Given the description of an element on the screen output the (x, y) to click on. 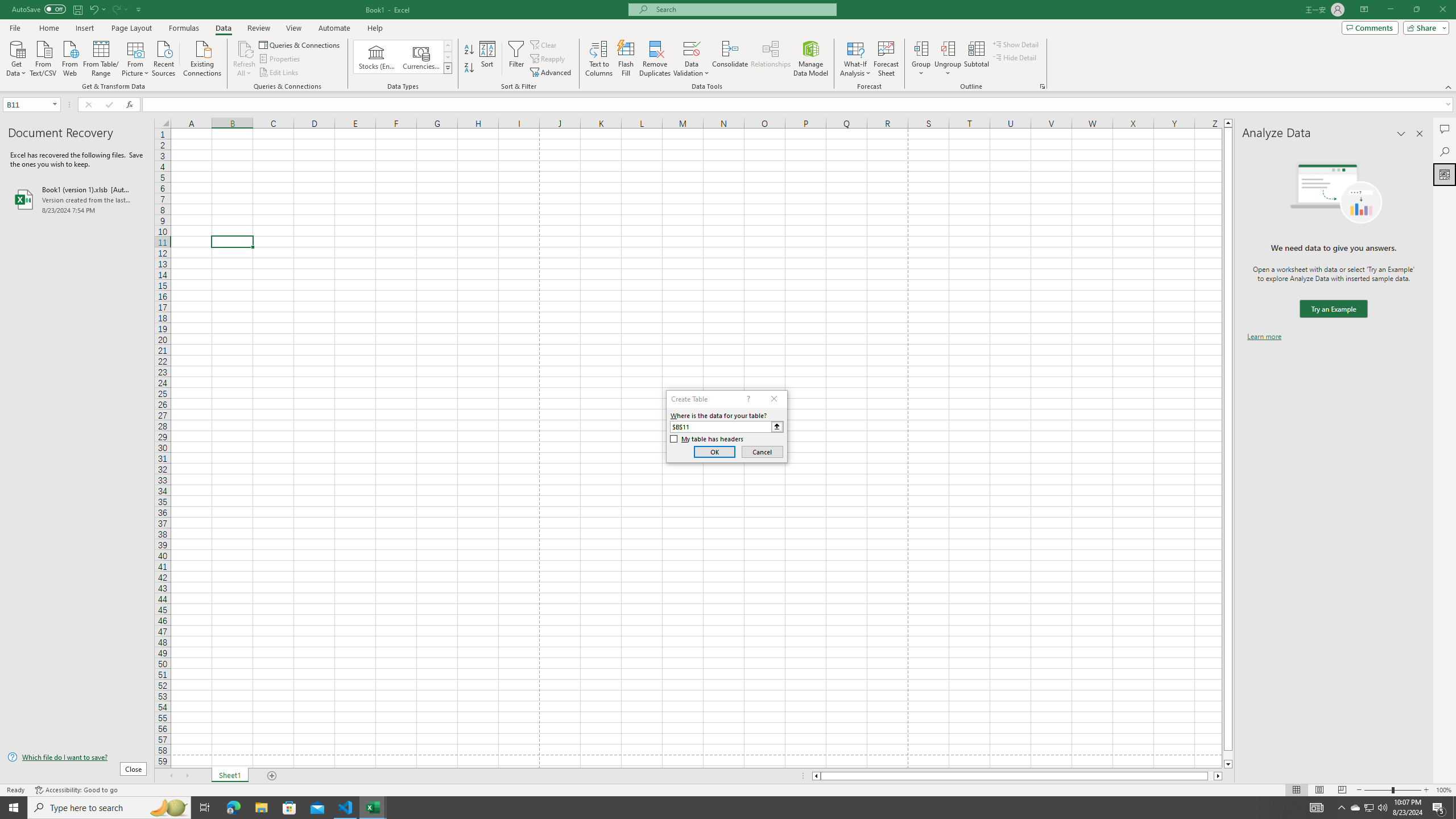
Subtotal (976, 58)
Text to Columns... (598, 58)
Forecast Sheet (885, 58)
From Web (69, 57)
Sort A to Z (469, 49)
AutomationID: ConvertToLinkedEntity (403, 56)
